Given the description of an element on the screen output the (x, y) to click on. 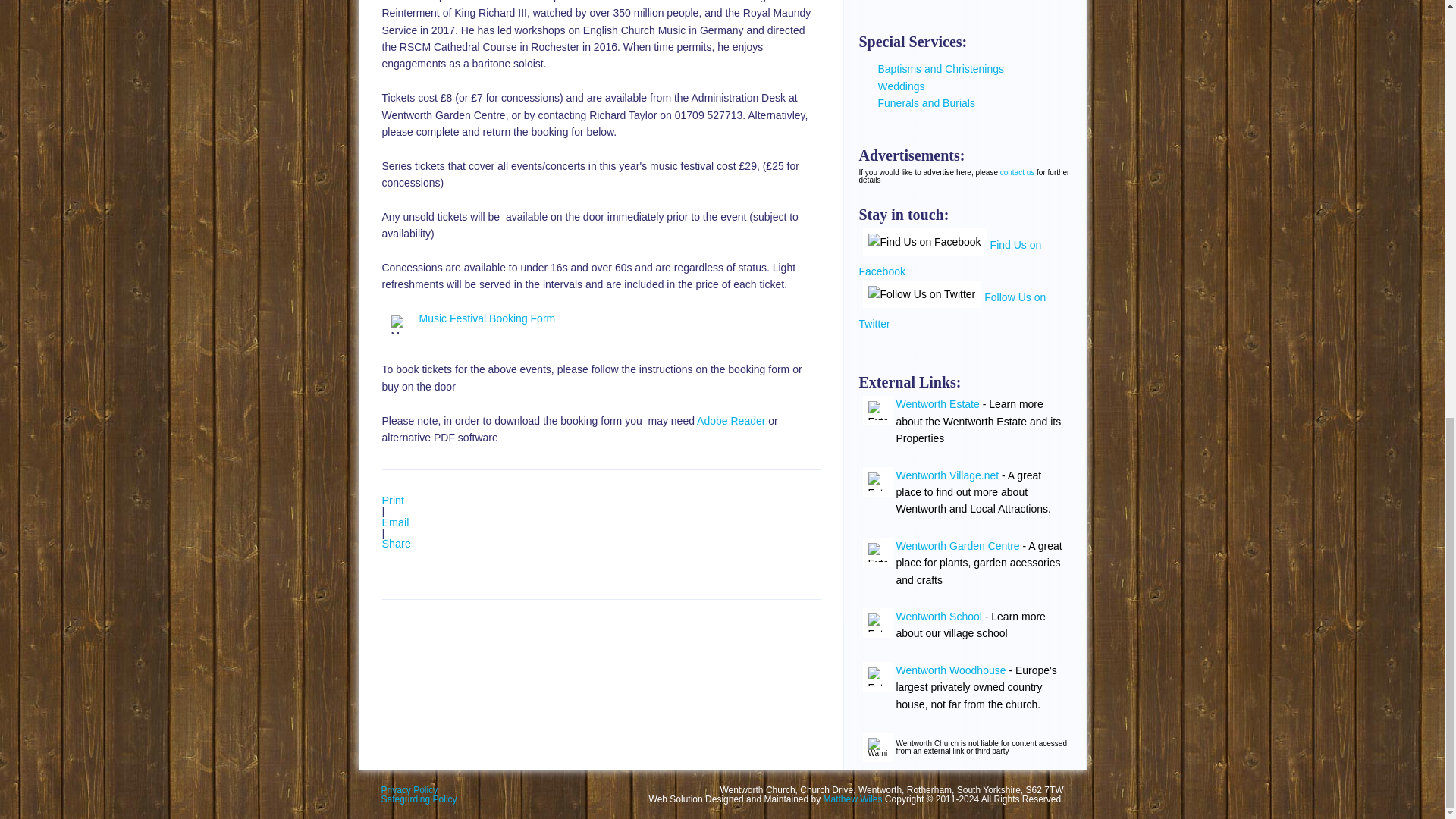
Find Us on Facebook (950, 258)
Weddings (900, 86)
Harley Mission (877, 410)
Music Festival Poster (399, 324)
Baptisms and Christenings (940, 69)
Wentworth Village (877, 552)
Wentworth Estate (937, 404)
Wentworth Garden Centre (958, 545)
Share (395, 543)
Find Us on Facebook (925, 241)
Wentworth Garden Centre (958, 545)
Wentworth Village Website (947, 475)
Wentworth Village.net (947, 475)
Wentworth School (877, 623)
Wentworth Woodhouse (951, 670)
